Given the description of an element on the screen output the (x, y) to click on. 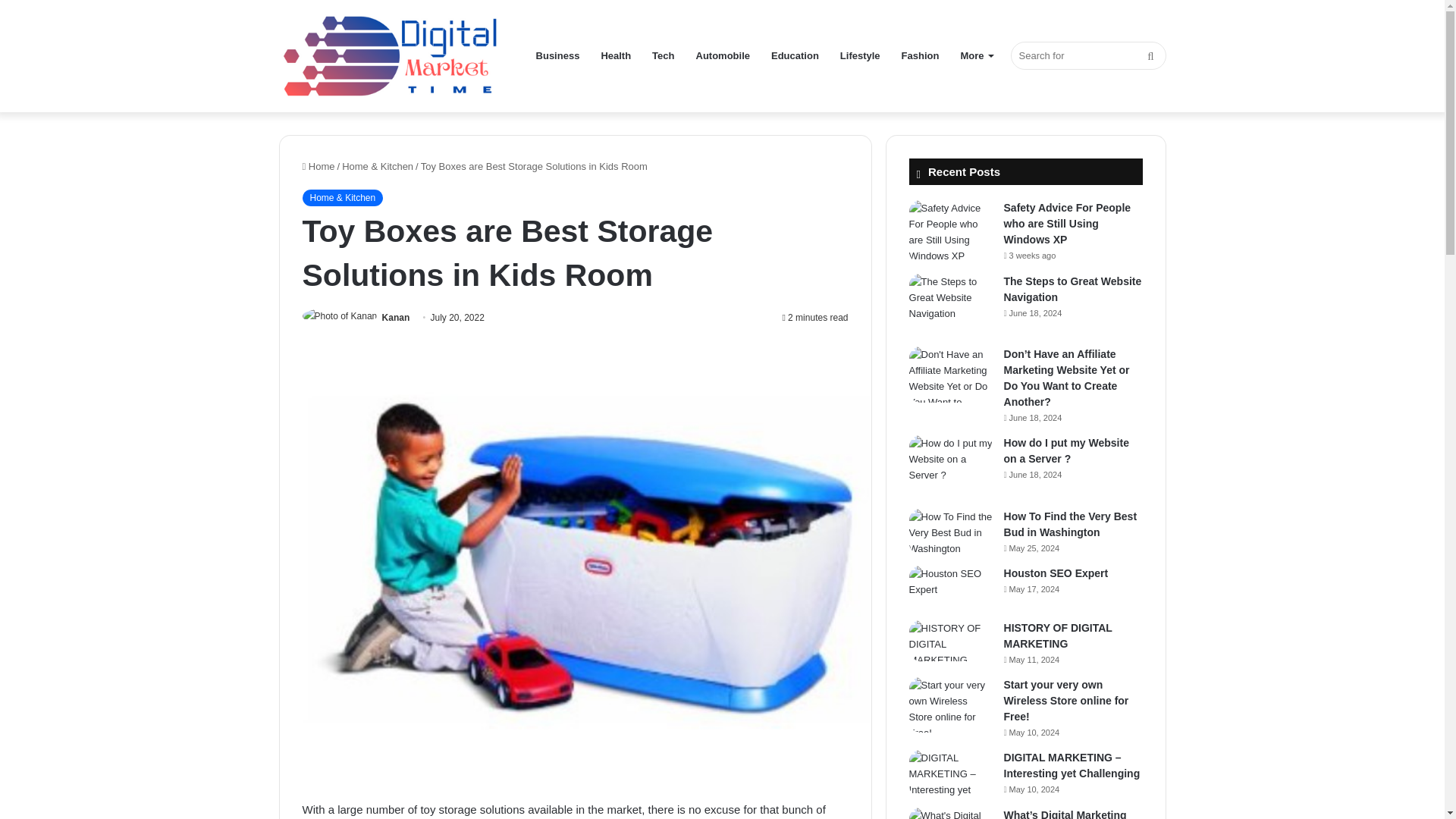
Search for (1088, 55)
Kanan (395, 317)
Digitalmarkettime.com (392, 56)
Kanan (395, 317)
Home (317, 165)
